Given the description of an element on the screen output the (x, y) to click on. 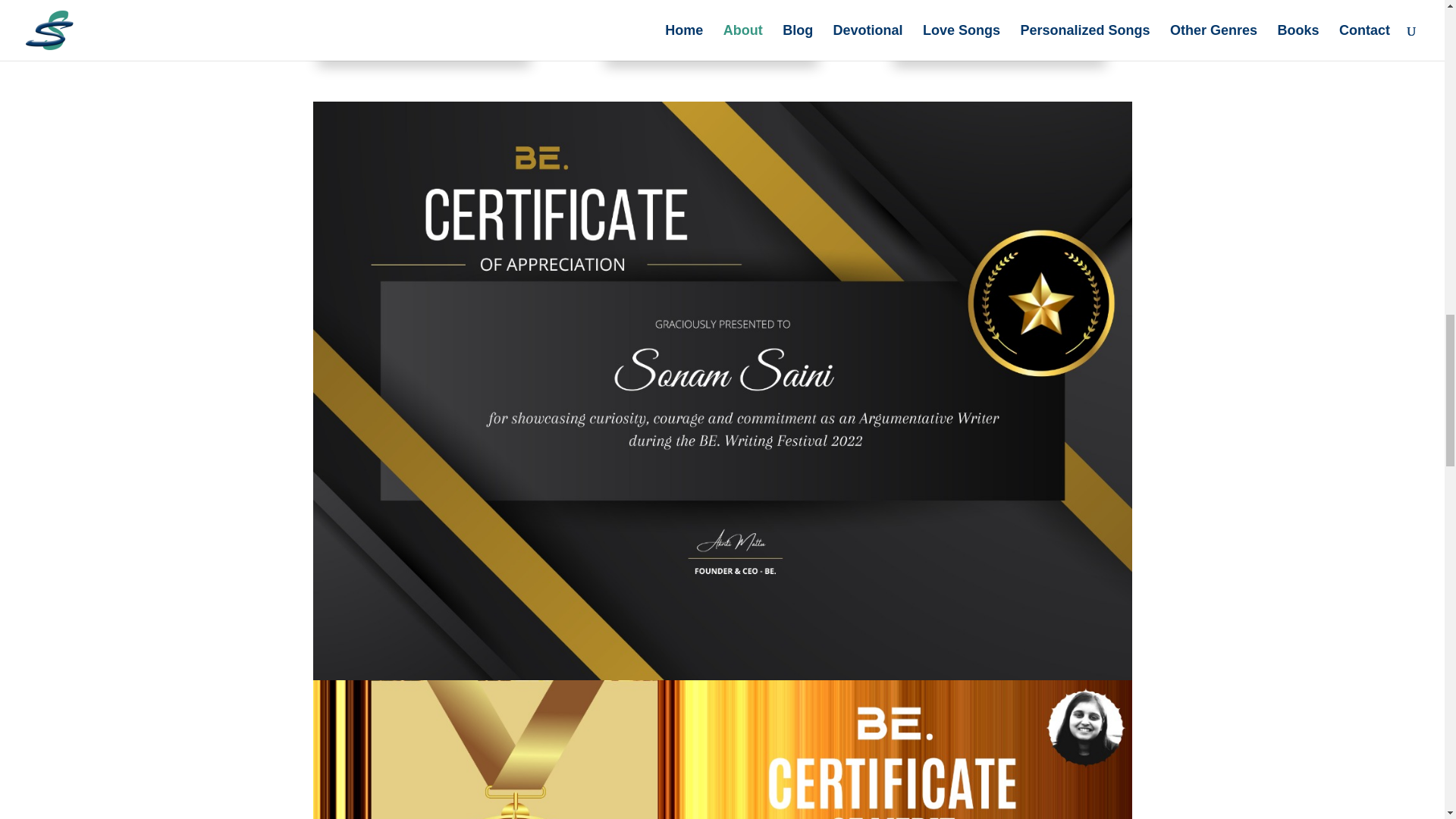
Prize Winner in BE. Writing Fest 2022 (711, 51)
Prize Winner in BE. Writing Fest 2022 (423, 51)
Prize Winner in BE. Writing Fest 2022 (998, 51)
